Given the description of an element on the screen output the (x, y) to click on. 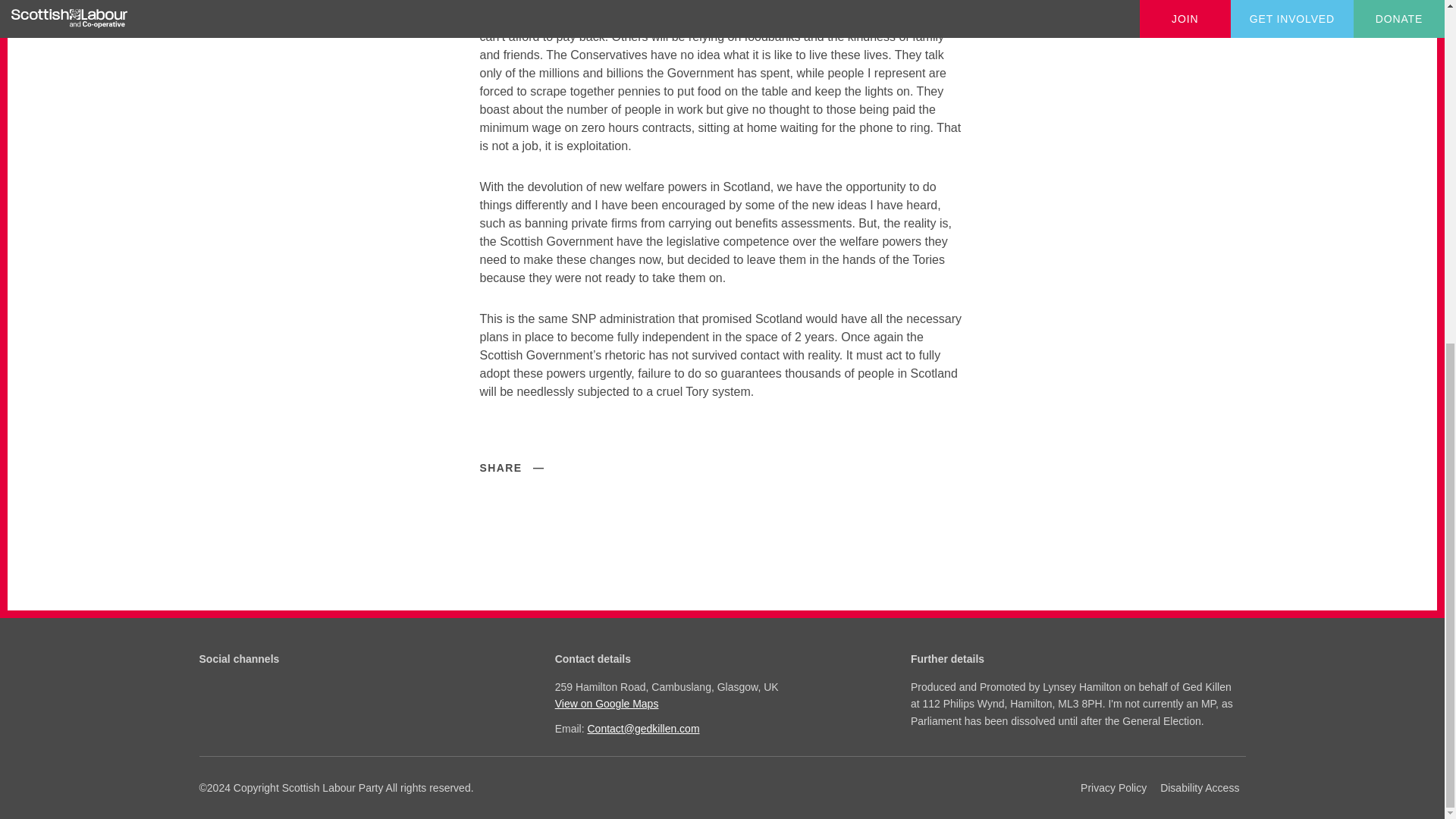
Disability Access (1199, 787)
Privacy Policy (1113, 787)
View on Google Maps (719, 703)
